Given the description of an element on the screen output the (x, y) to click on. 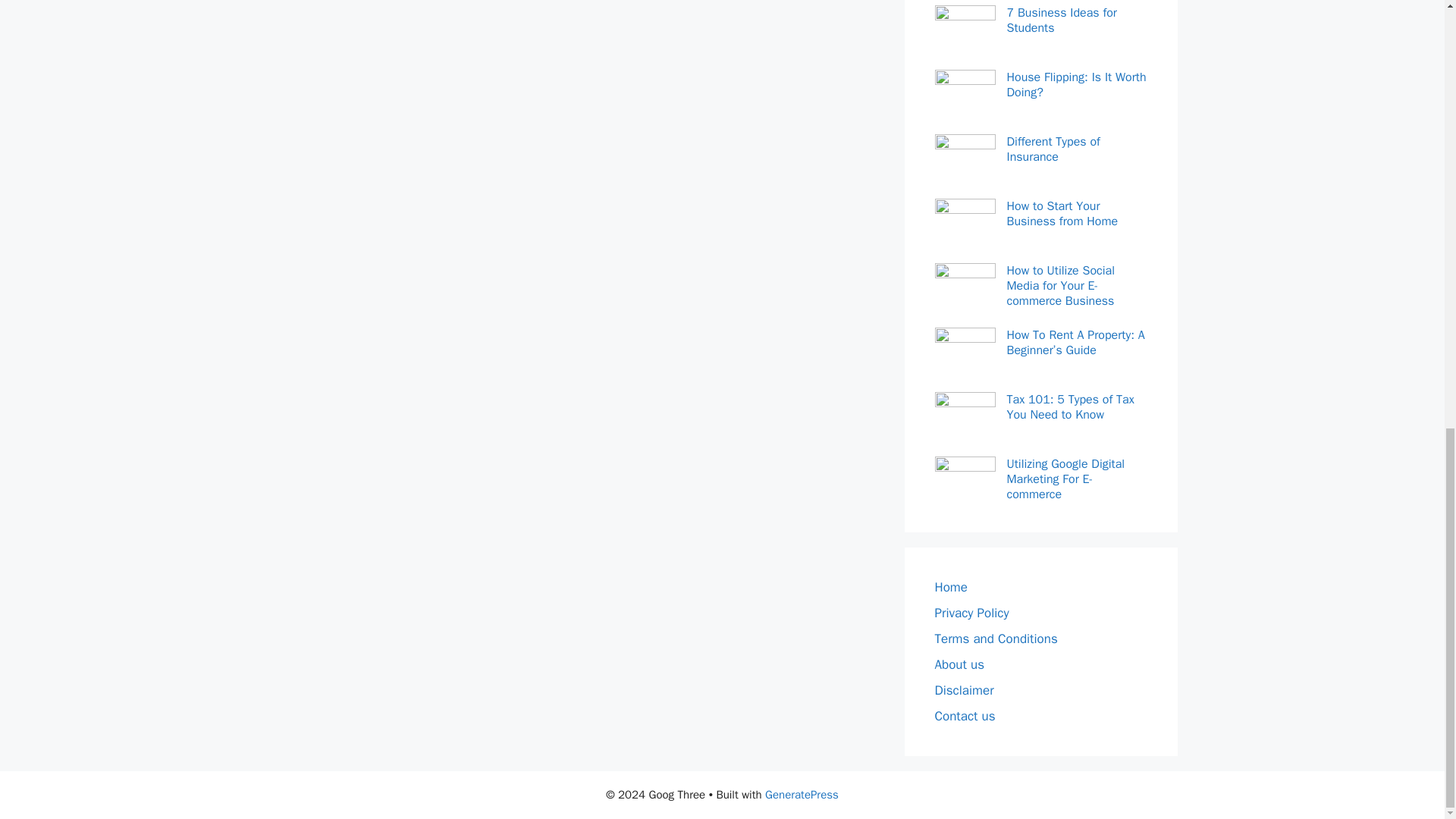
7 Business Ideas for Students  (1077, 20)
Tax 101: 5 Types of Tax You Need to Know (1077, 407)
Home (950, 587)
How to Utilize Social Media for Your E-commerce Business (1077, 285)
Disclaimer (963, 690)
House Flipping: Is It Worth Doing? (1077, 84)
Privacy Policy (971, 612)
Terms and Conditions (995, 638)
How to Start Your Business from Home (1077, 214)
About us (959, 664)
Utilizing Google Digital Marketing For E-commerce (1077, 479)
Different Types of Insurance (1077, 149)
